Given the description of an element on the screen output the (x, y) to click on. 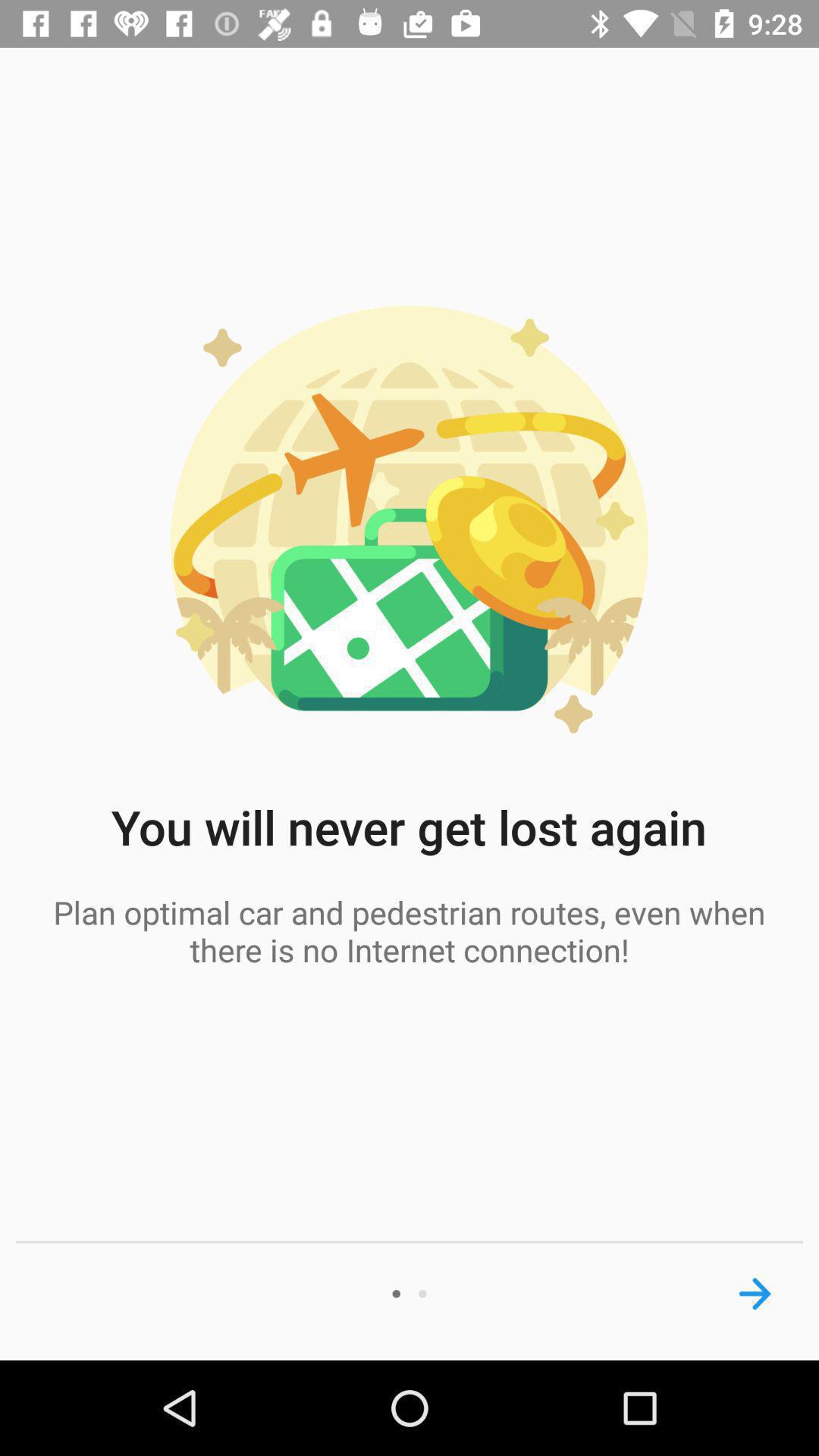
next button on an app (755, 1293)
